Given the description of an element on the screen output the (x, y) to click on. 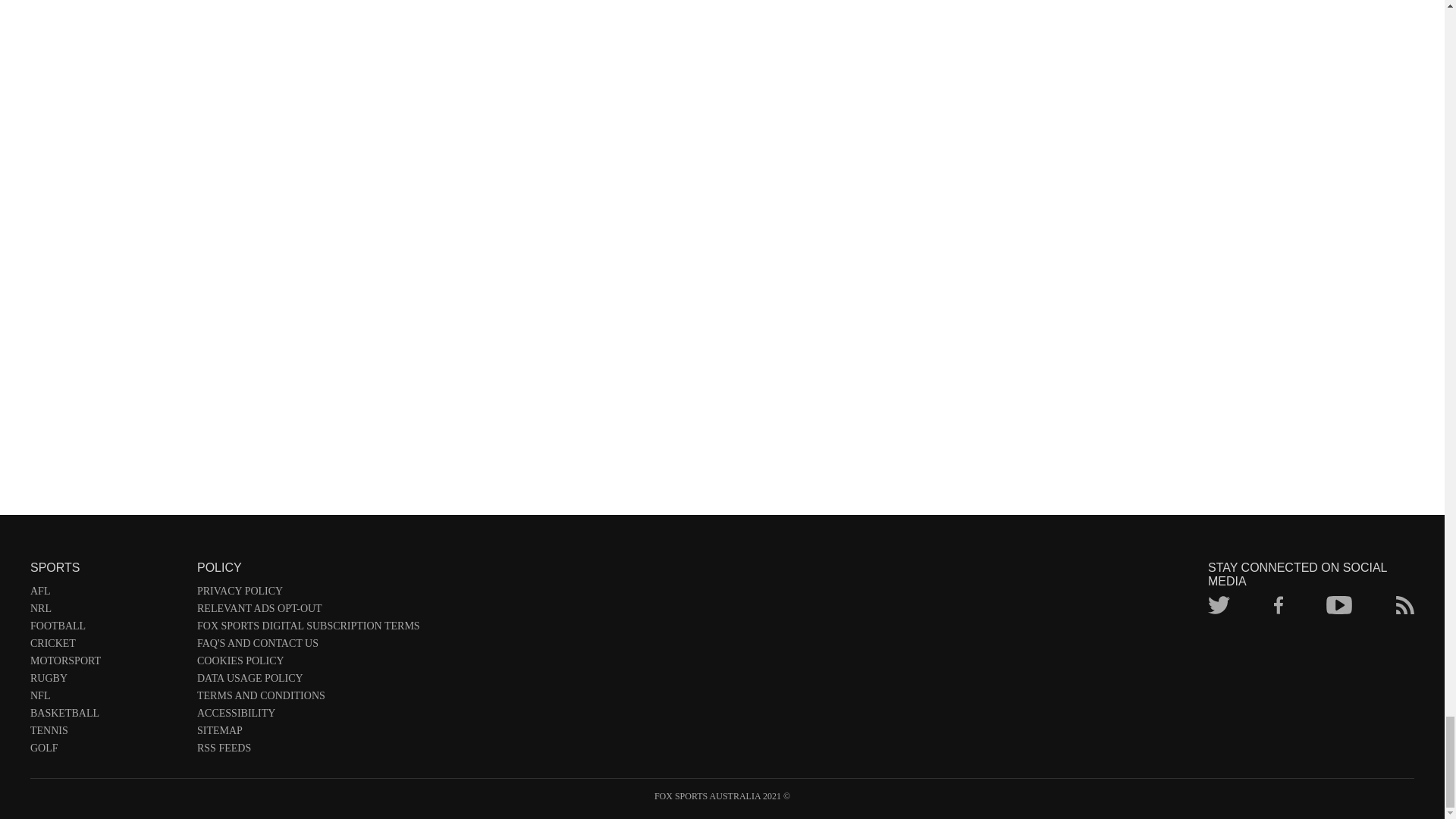
BASKETBALL (106, 715)
RSS FEEDS (308, 751)
FOOTBALL (106, 628)
RELEVANT ADS OPT-OUT (308, 610)
PRIVACY POLICY (308, 593)
AFL (106, 593)
NRL (106, 610)
CRICKET (106, 646)
MOTORSPORT (106, 663)
DATA USAGE POLICY (308, 681)
